Given the description of an element on the screen output the (x, y) to click on. 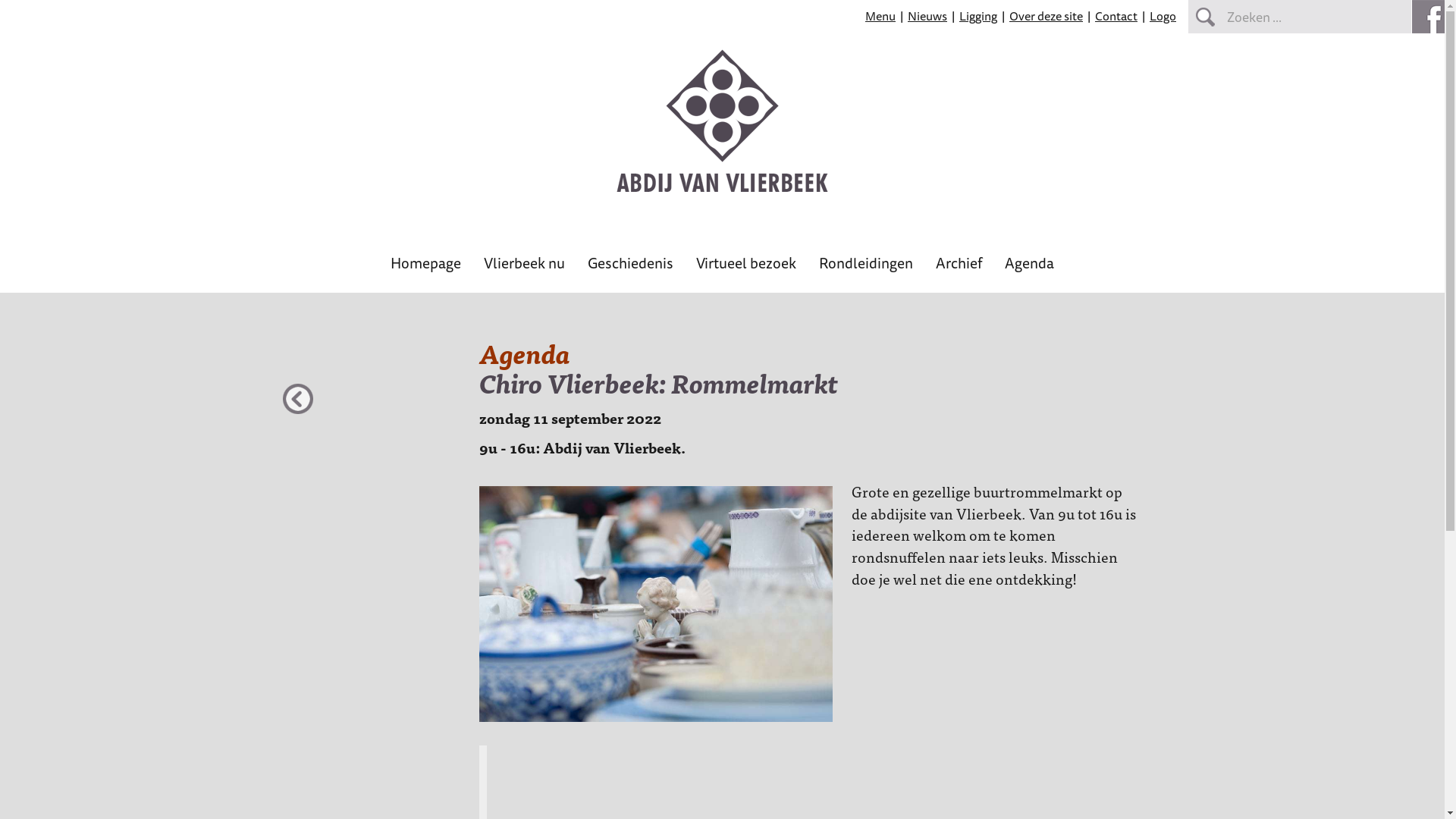
Rondleidingen Element type: text (865, 268)
Homepage Element type: text (425, 268)
Geschiedenis Element type: text (630, 268)
Ligging Element type: text (978, 15)
Vlierbeek nu Element type: text (524, 268)
Agenda Element type: text (1029, 268)
Naar de homepage Element type: hover (721, 189)
Contact Element type: text (1116, 15)
Terug Element type: hover (298, 400)
Over deze site Element type: text (1045, 15)
Logo Element type: text (1162, 15)
Virtueel bezoek Element type: text (745, 268)
Nieuws Element type: text (927, 15)
Archief Element type: text (958, 268)
Menu Element type: text (880, 15)
